Given the description of an element on the screen output the (x, y) to click on. 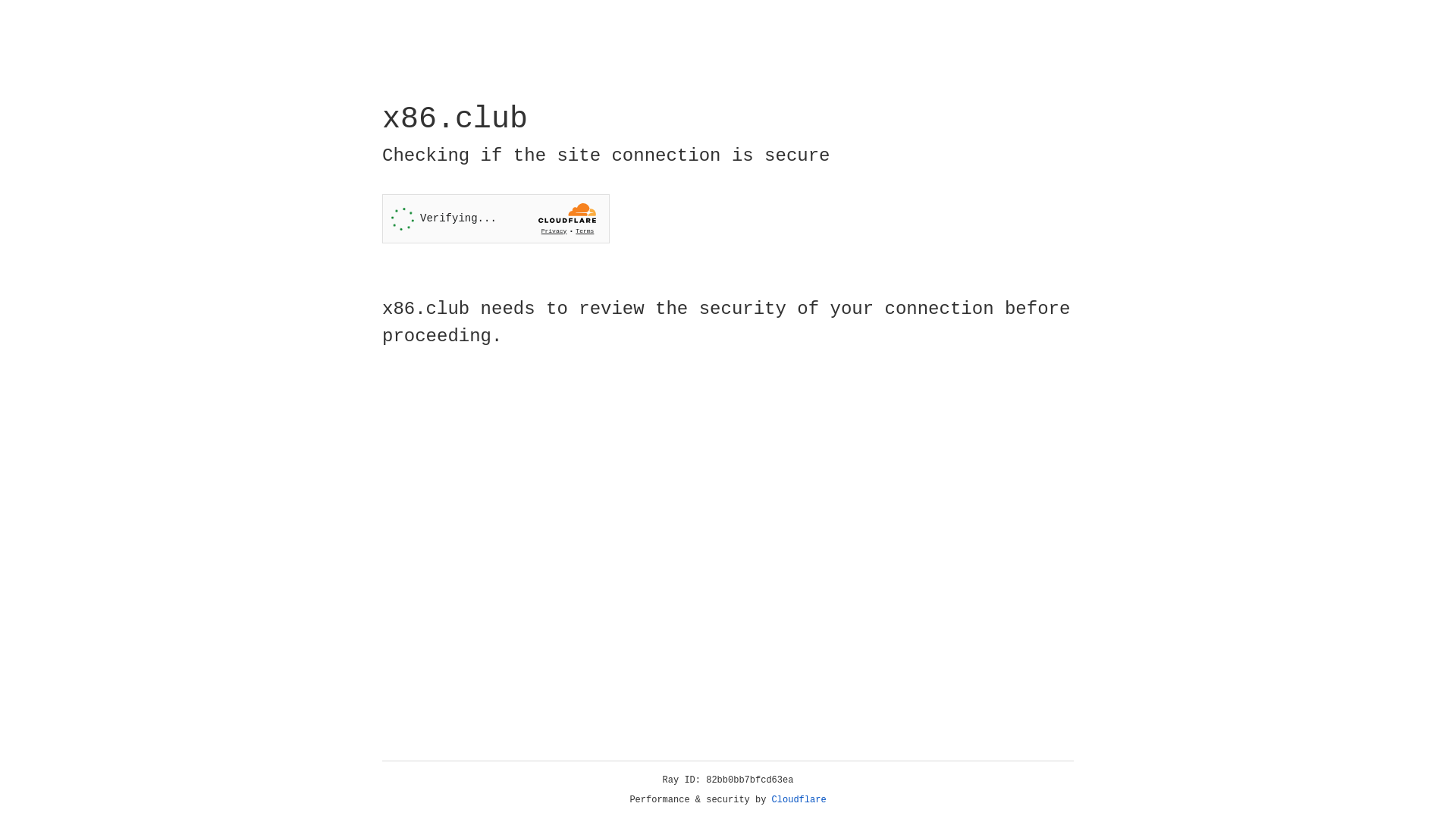
Widget containing a Cloudflare security challenge Element type: hover (495, 218)
Cloudflare Element type: text (798, 799)
